Given the description of an element on the screen output the (x, y) to click on. 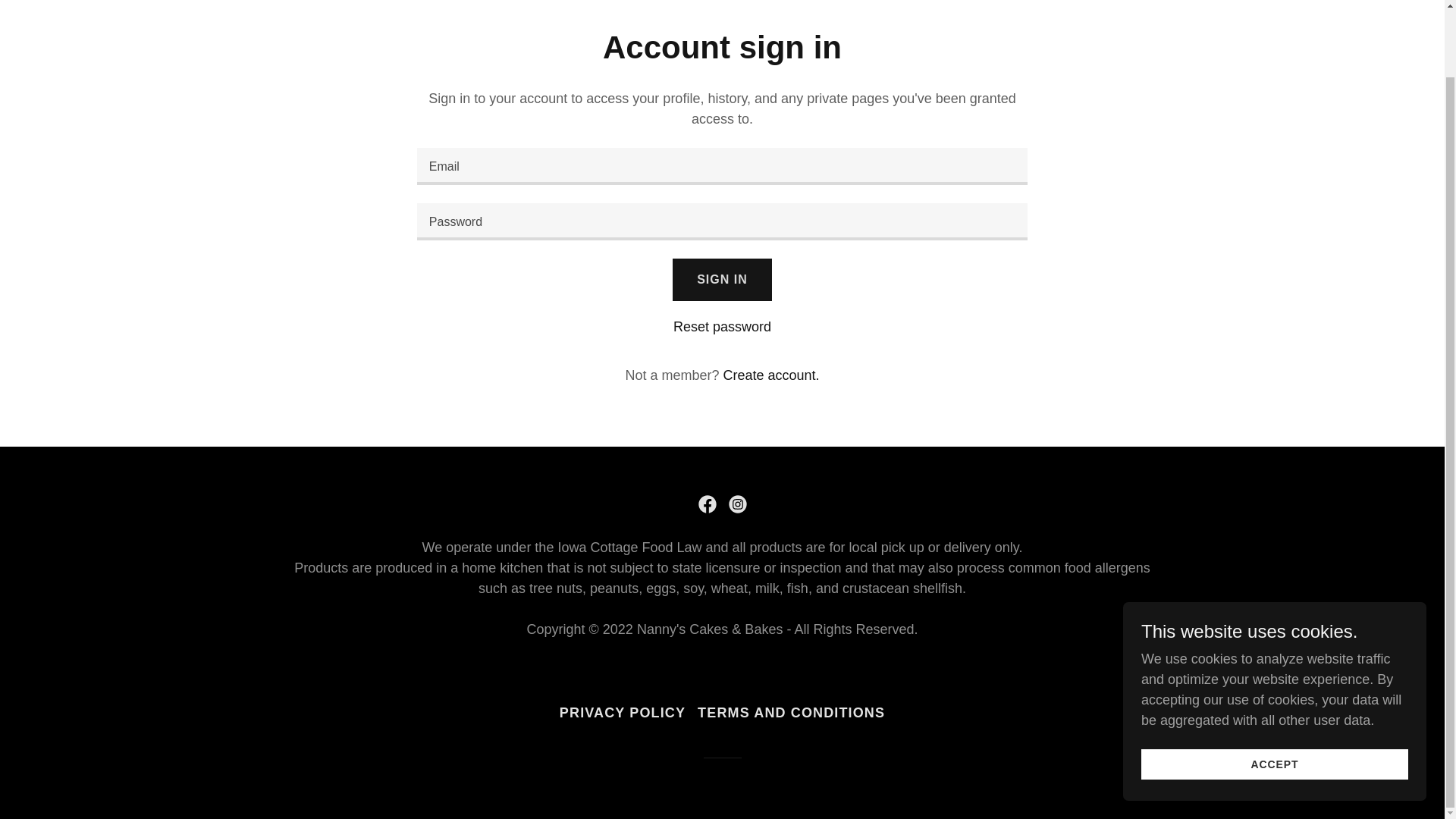
Reset password (721, 326)
SIGN IN (721, 279)
Create account. (770, 375)
PRIVACY POLICY (622, 713)
